Given the description of an element on the screen output the (x, y) to click on. 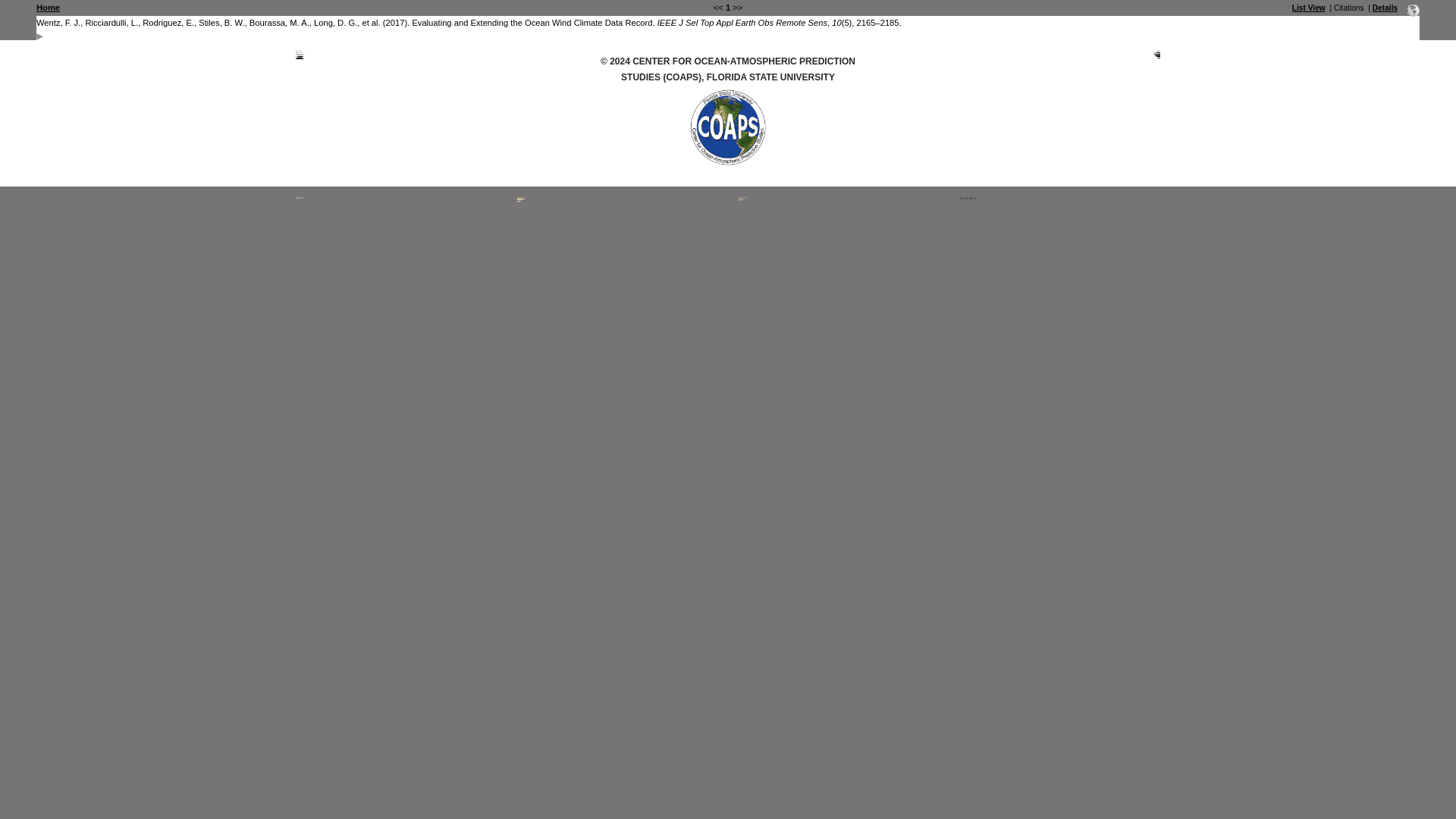
List View (1308, 8)
toggle visibility (39, 36)
Home (47, 7)
Details (1385, 8)
